Given the description of an element on the screen output the (x, y) to click on. 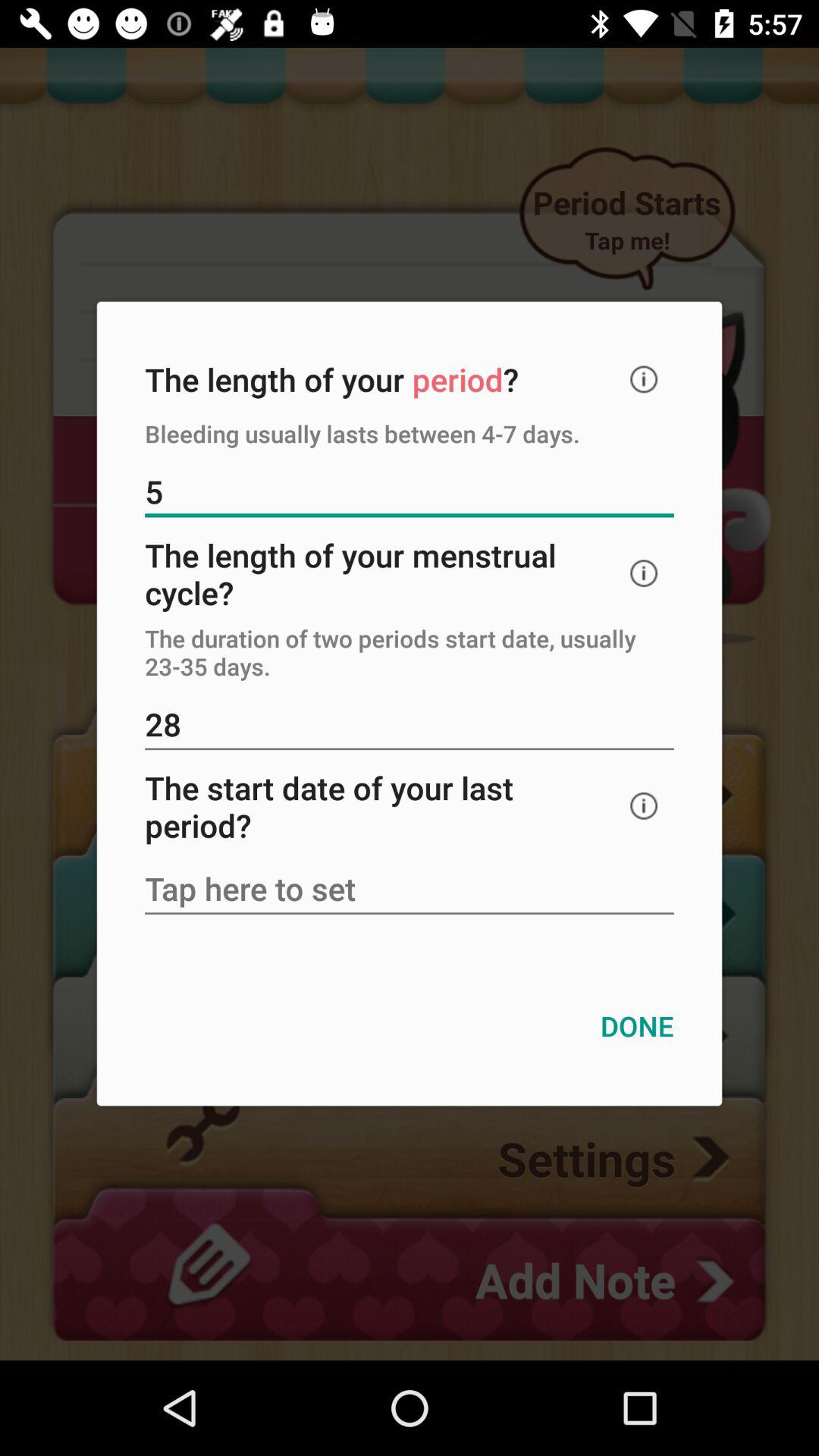
open item at the bottom right corner (636, 1025)
